Given the description of an element on the screen output the (x, y) to click on. 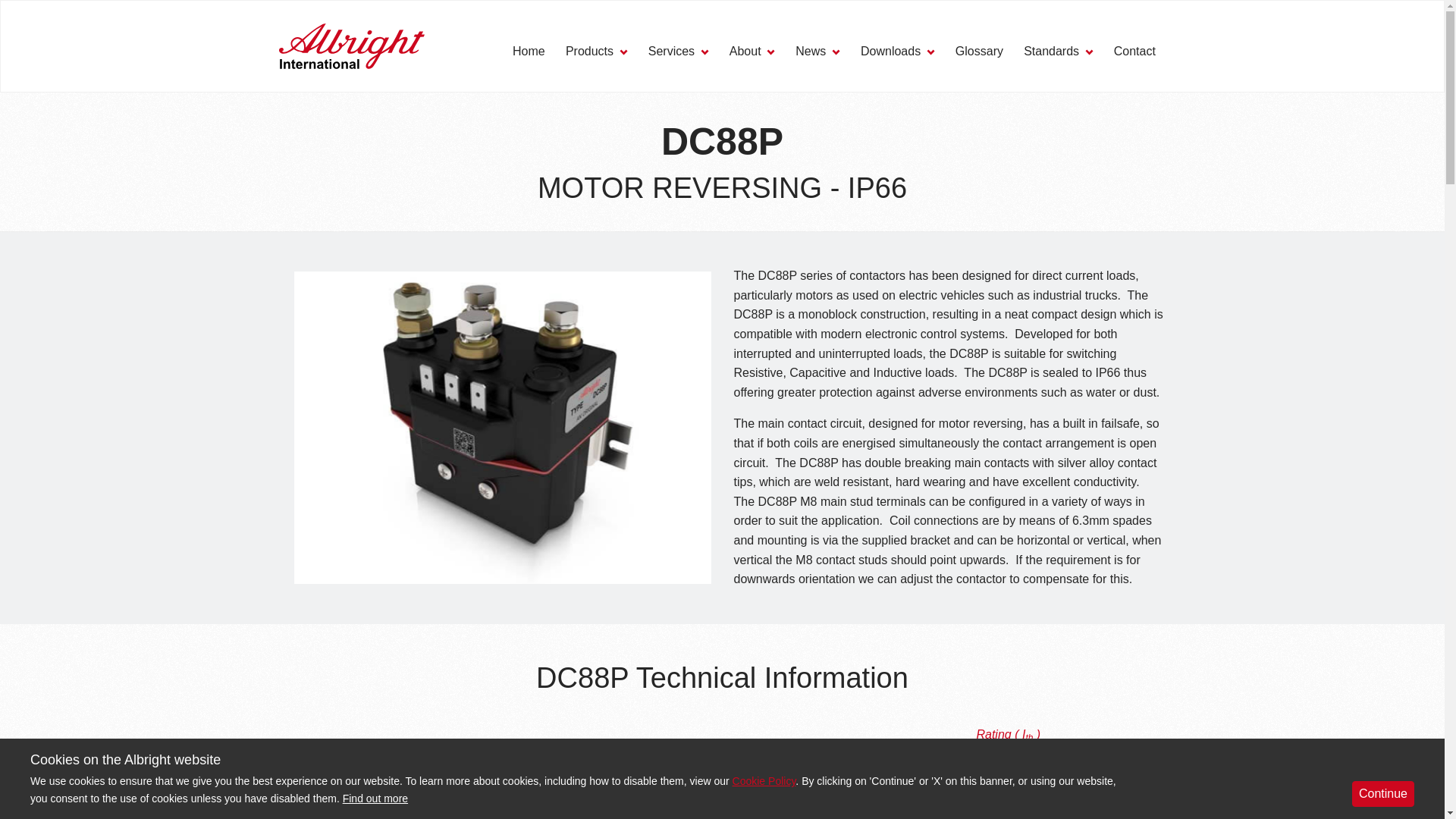
Cookie Policy (764, 780)
About (751, 63)
Services (678, 63)
Find out more (374, 798)
Continue (1382, 793)
Downloads (897, 63)
News (817, 63)
Find out more (374, 798)
Products (596, 63)
